Given the description of an element on the screen output the (x, y) to click on. 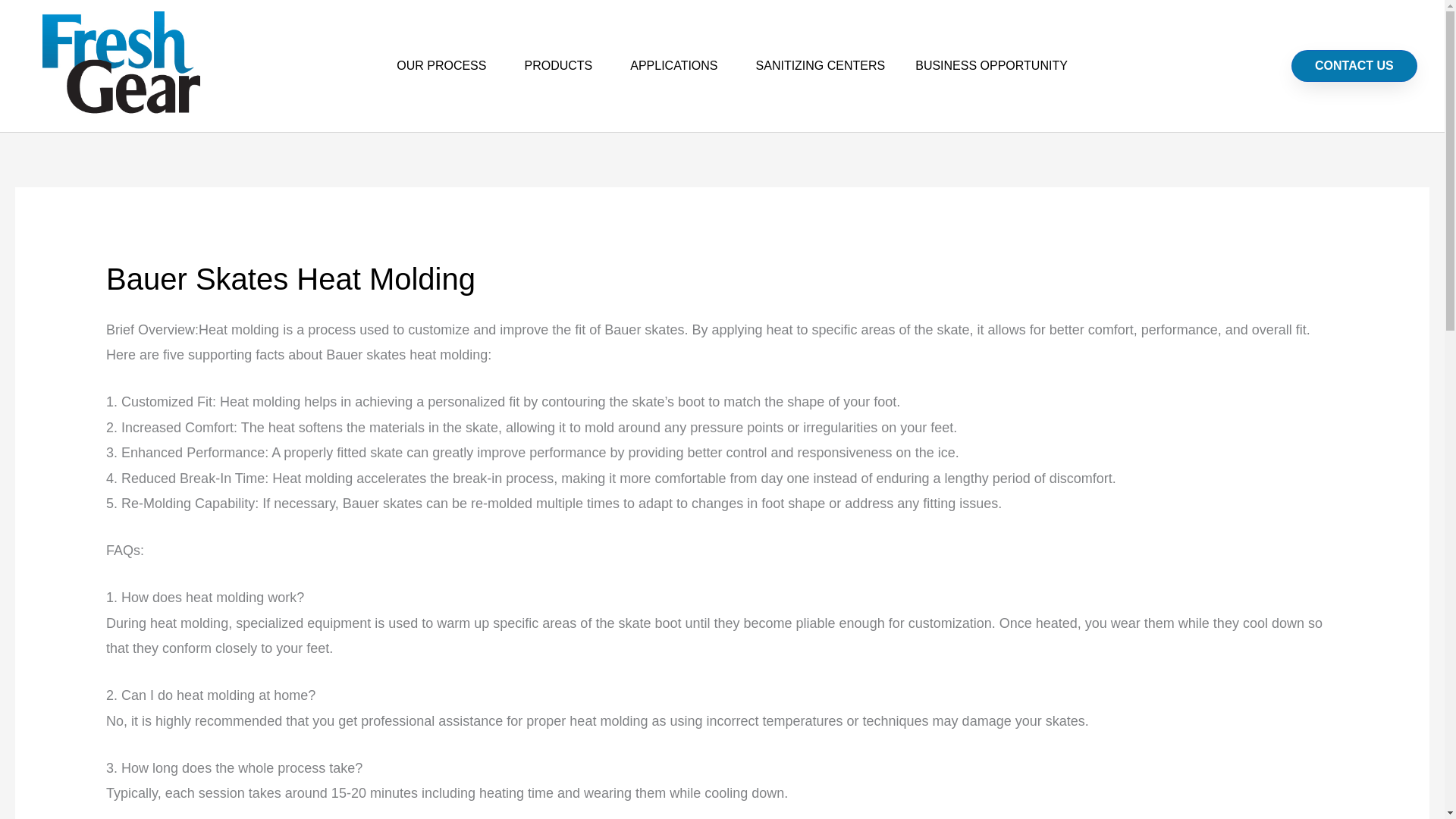
OUR PROCESS (444, 65)
APPLICATIONS (676, 65)
SANITIZING CENTERS (821, 65)
PRODUCTS (561, 65)
CONTACT US (1353, 65)
BUSINESS OPPORTUNITY (991, 65)
